Given the description of an element on the screen output the (x, y) to click on. 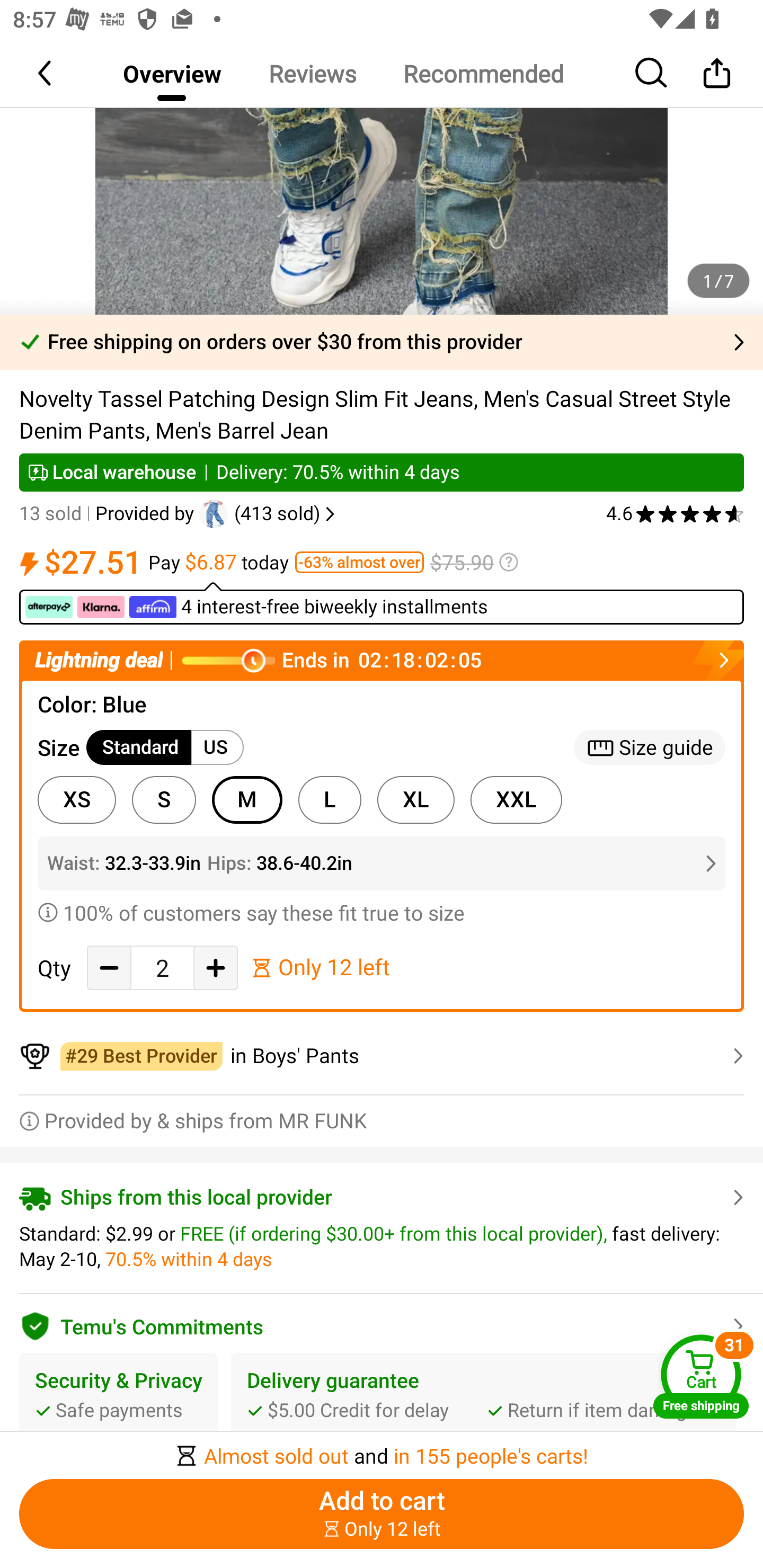
Overview (171, 72)
Reviews (311, 72)
Recommended (482, 72)
Back (46, 72)
Share (716, 72)
Local warehouse Delivery: 70.5% within 4 days (381, 472)
13 sold Provided by  (109, 514)
4.6 (674, 514)
￼ ￼ ￼ 4 interest-free biweekly installments (381, 602)
Lightning deal Ends in￼￼ (381, 659)
Standard (138, 747)
US (216, 747)
 Size guide (649, 747)
XS (76, 799)
S (163, 799)
M (247, 799)
L (329, 799)
XL (415, 799)
XXL (516, 799)
Waist: 32.3-33.9in￼Hips: 38.6-40.2in￼ (381, 862)
  100% of customers say these fit true to size (381, 912)
Decrease Quantity Button (108, 967)
Add Quantity button (215, 967)
2 (162, 968)
￼￼in Boys' Pants (381, 1055)
Temu's Commitments (381, 1323)
Cart Free shipping Cart (701, 1375)
Security & Privacy Safe payments Secure privacy (118, 1410)
￼￼Almost sold out and in 155 people's carts! (381, 1450)
Add to cart ￼￼Only 12 left (381, 1513)
